Given the description of an element on the screen output the (x, y) to click on. 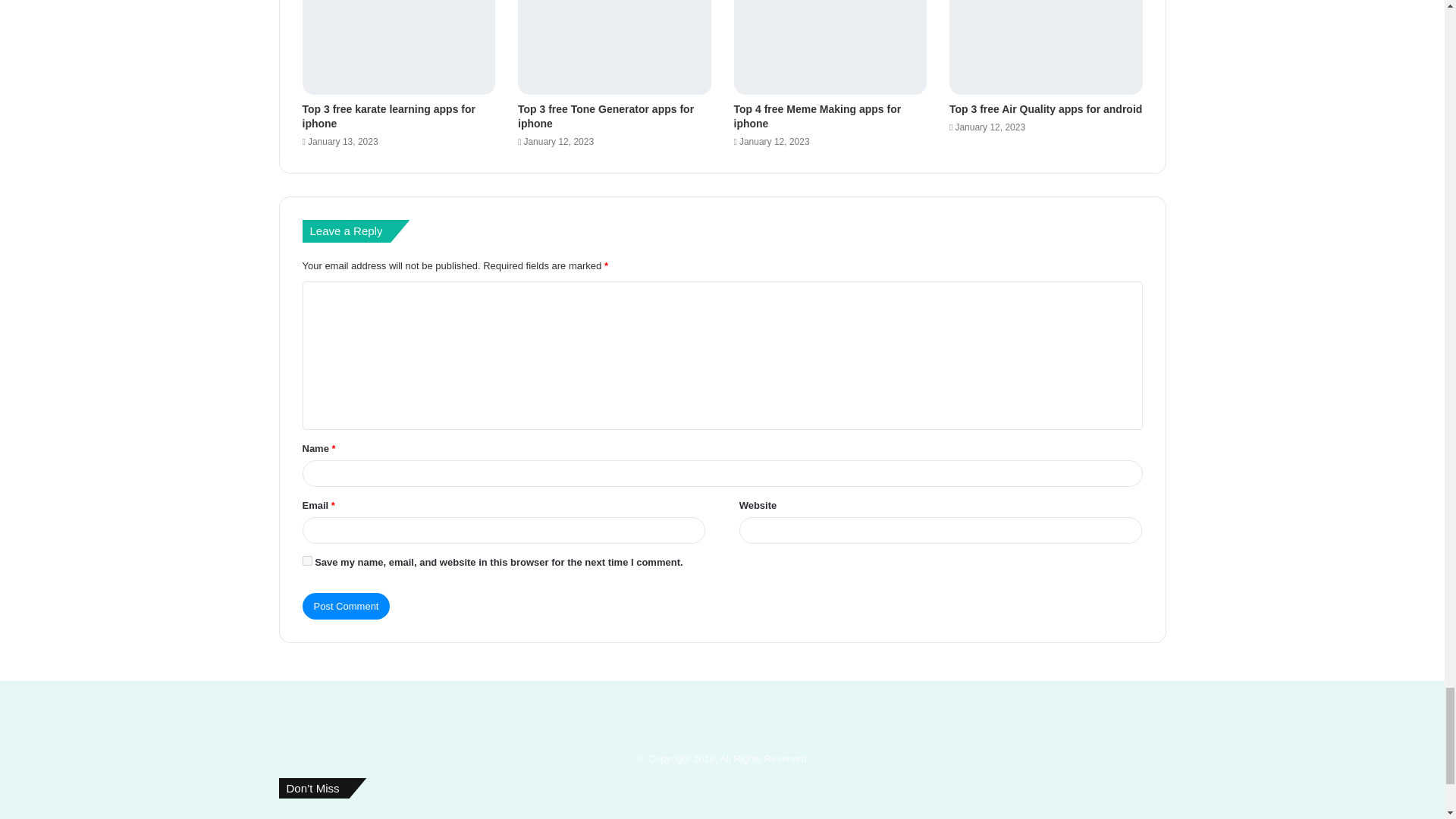
yes (306, 560)
Post Comment (345, 605)
